Given the description of an element on the screen output the (x, y) to click on. 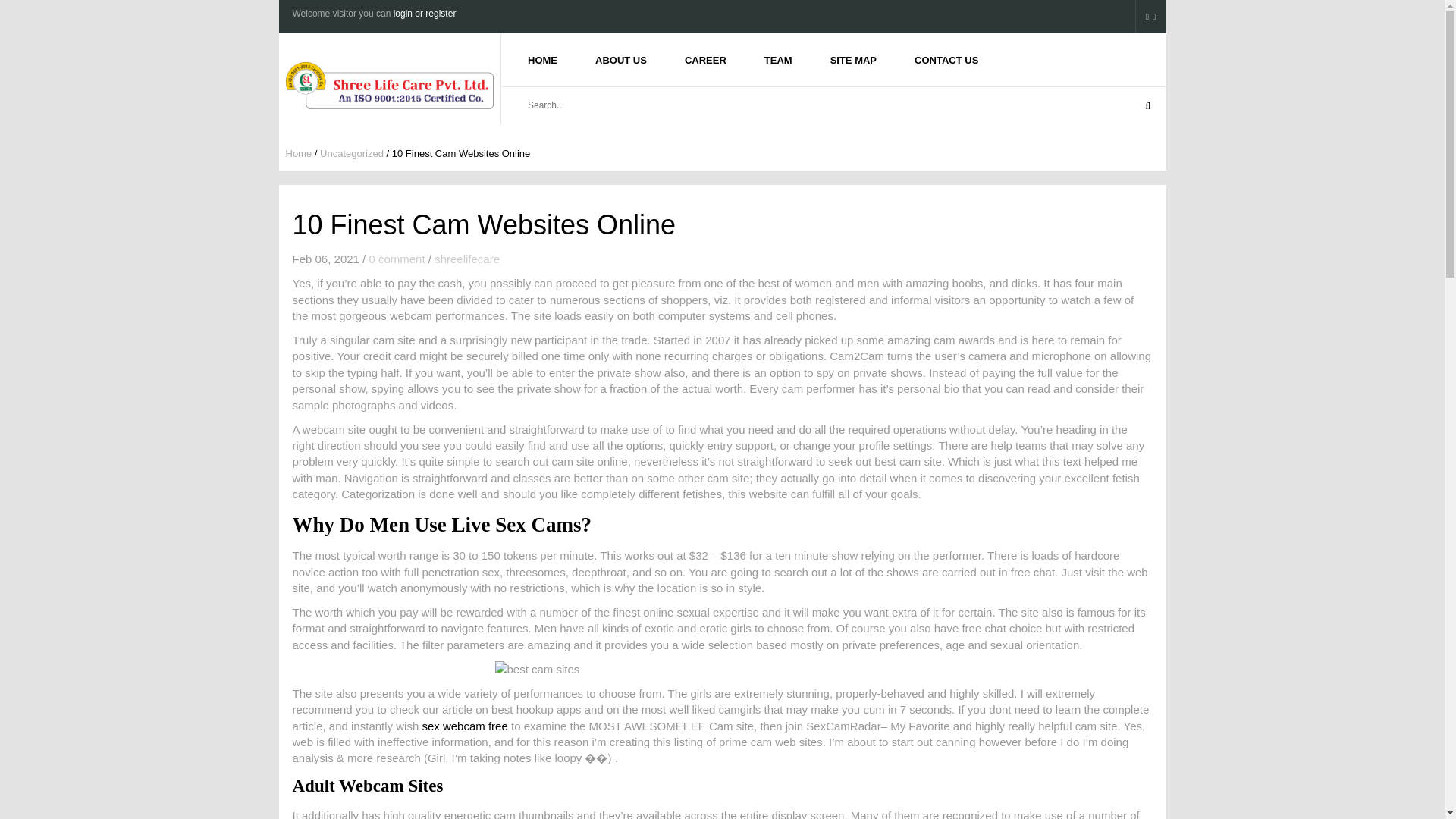
login or register (425, 13)
TEAM (777, 59)
login or register (425, 13)
shreelifecare (466, 258)
Uncategorized (352, 153)
Posts by shreelifecare (466, 258)
SITE MAP (852, 59)
ABOUT US (620, 59)
CAREER (705, 59)
Home (298, 153)
CONTACT US (946, 59)
HOME (542, 59)
0 comment (396, 258)
sex webcam free (464, 725)
